Given the description of an element on the screen output the (x, y) to click on. 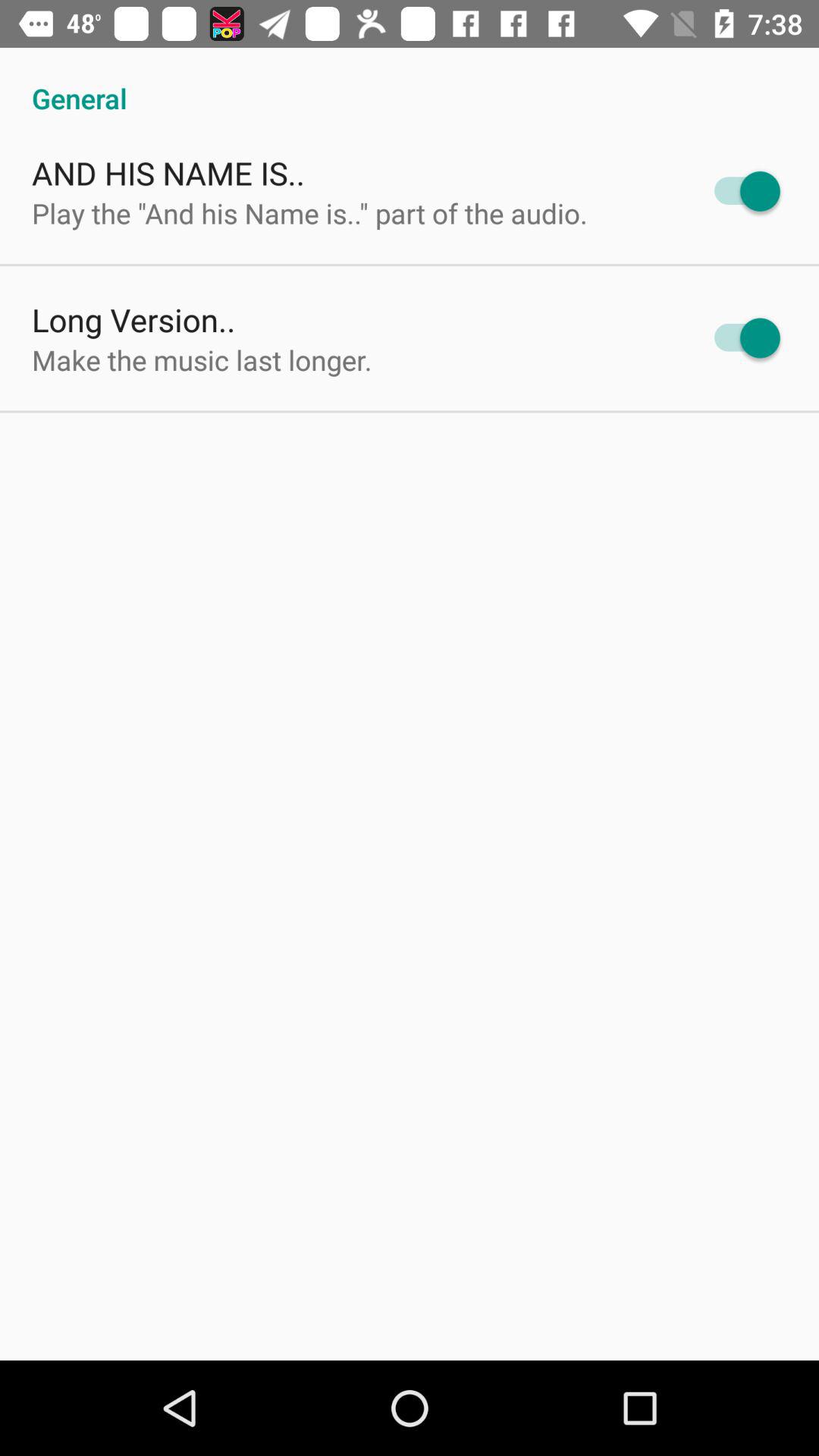
turn off the item below the play the and (133, 319)
